Given the description of an element on the screen output the (x, y) to click on. 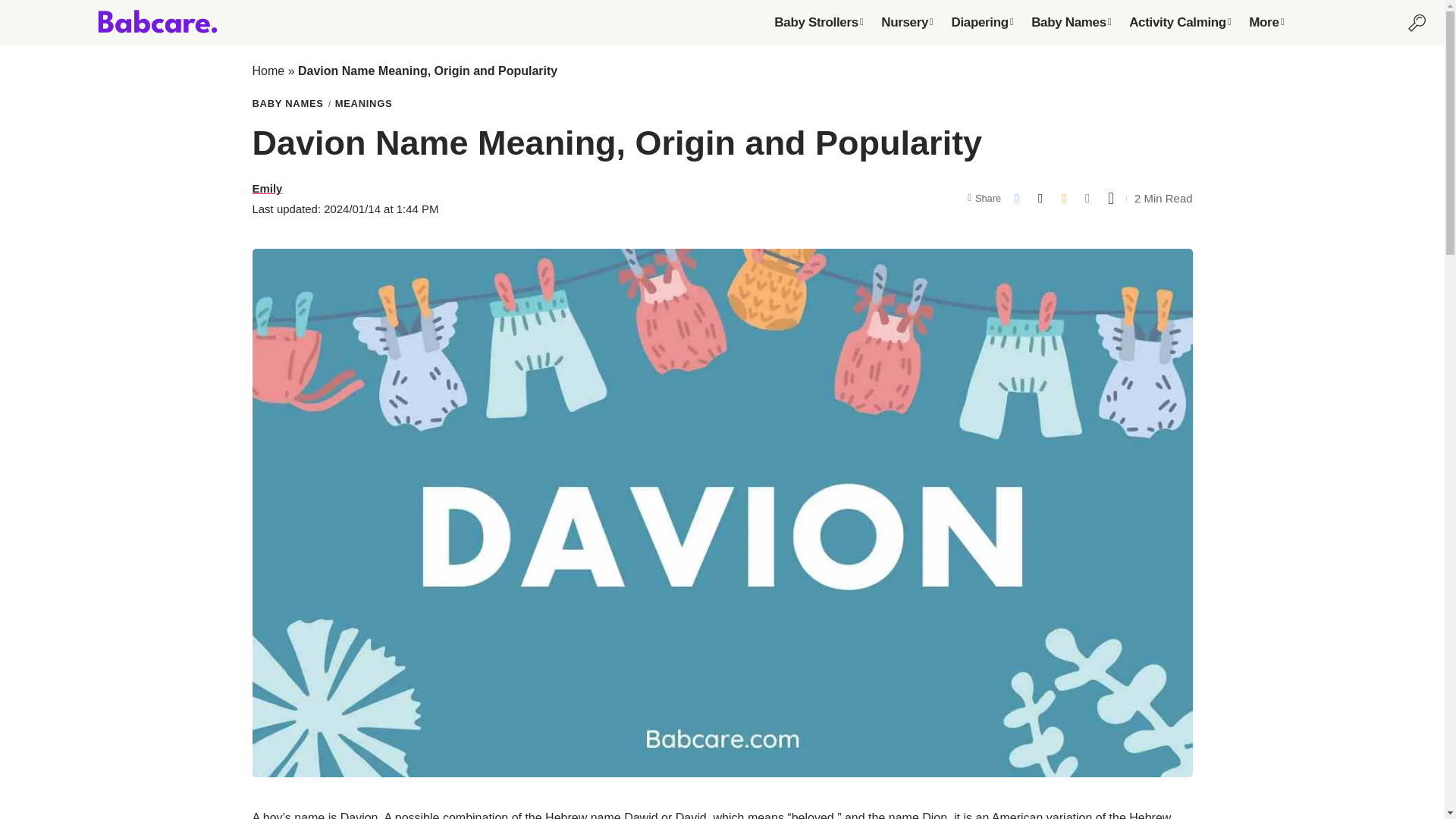
Baby Strollers (818, 22)
Diapering (982, 22)
Baby Names (1070, 22)
Nursery (907, 22)
Activity Calming (1179, 22)
More (1266, 22)
